Given the description of an element on the screen output the (x, y) to click on. 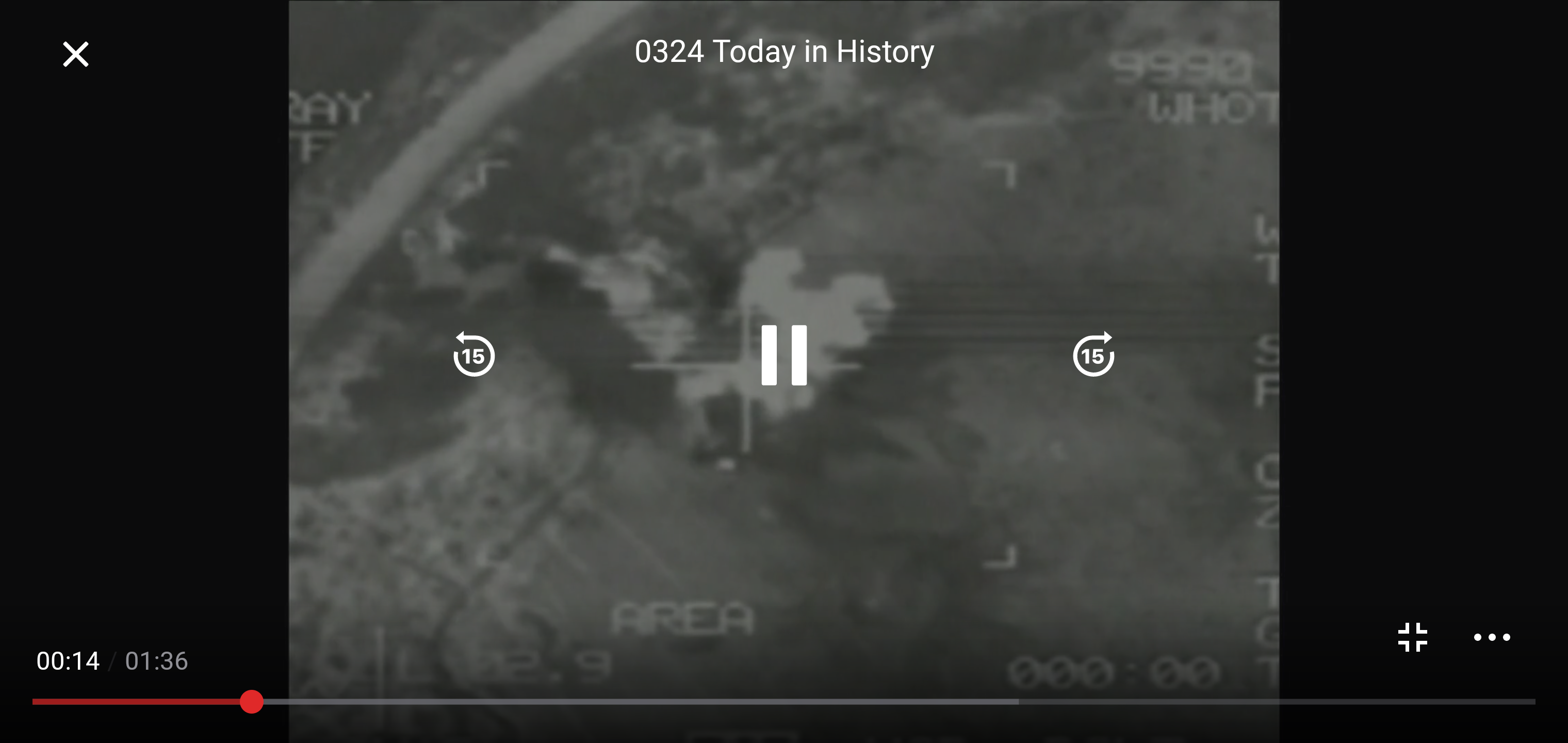
Exit Fullscreen (76, 53)
Rewind 15 seconds (474, 354)
Pause (783, 354)
fast forward 15 seconds (1093, 354)
Exit Fullscreen (1412, 636)
menu (1491, 636)
